Given the description of an element on the screen output the (x, y) to click on. 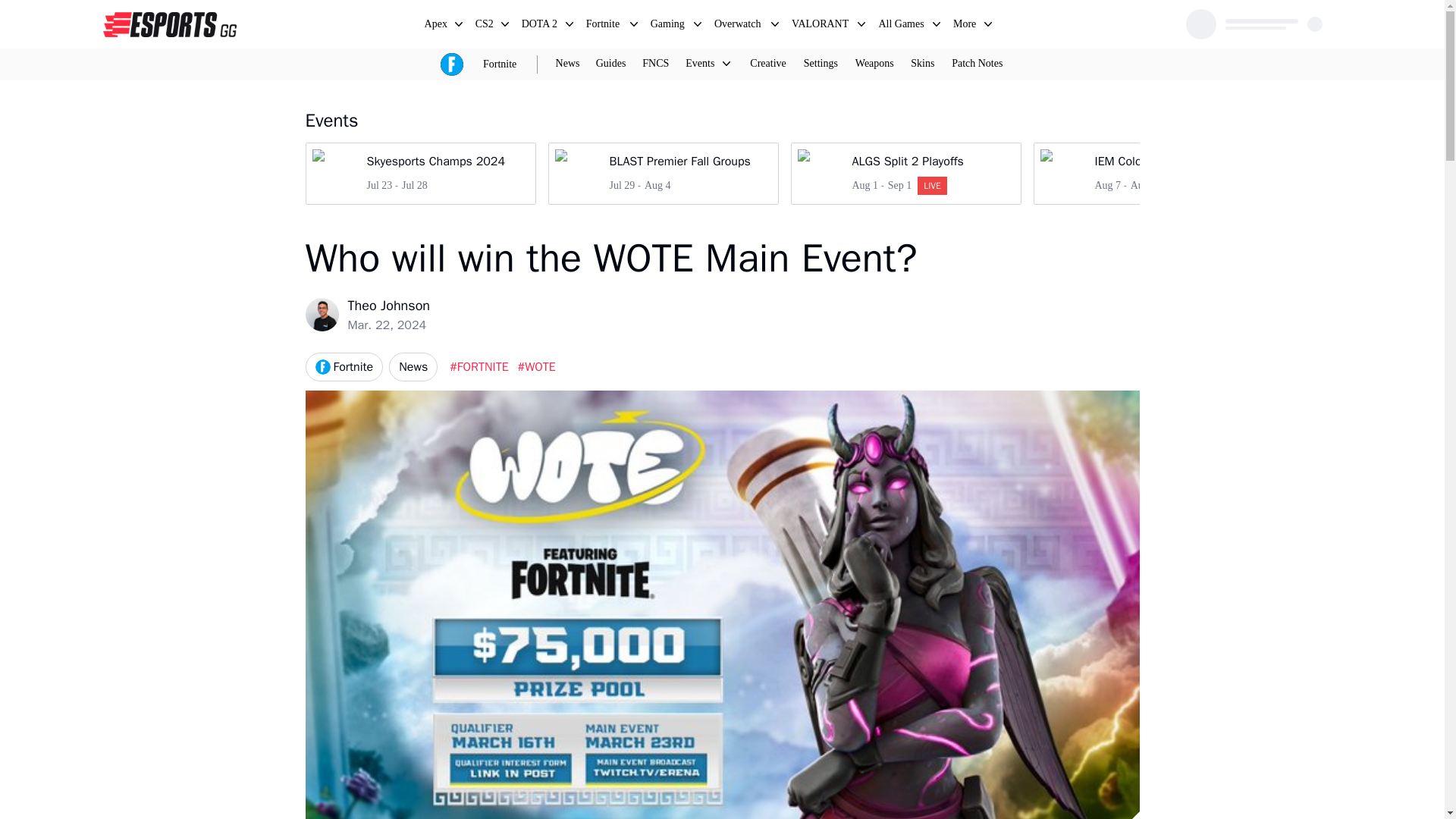
All Games (901, 25)
Fortnite (1147, 173)
Apex (499, 64)
CS2 (436, 25)
Settings (905, 173)
Apex (485, 25)
Weapons (820, 64)
